Given the description of an element on the screen output the (x, y) to click on. 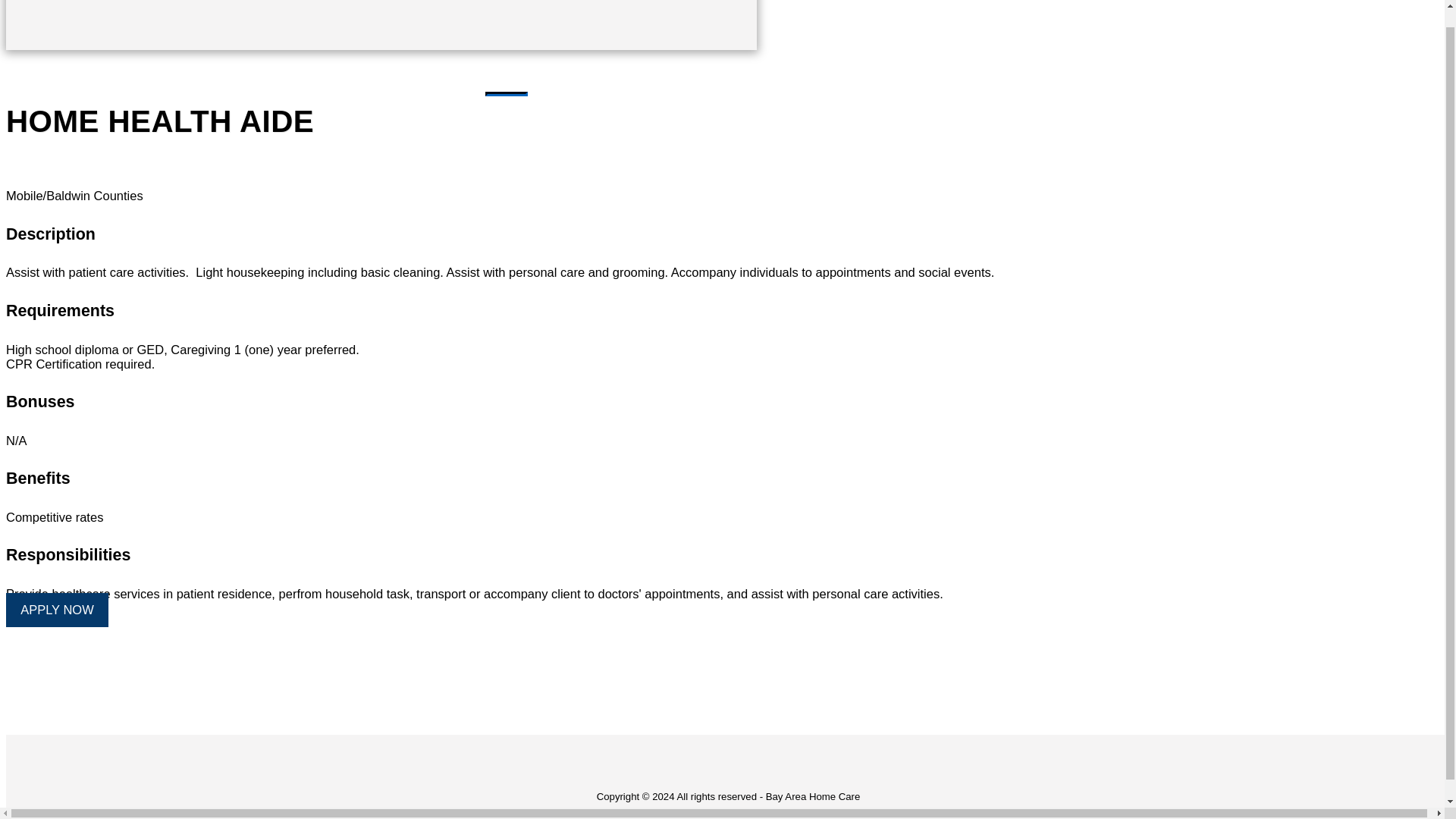
APPLY NOW (56, 609)
